Given the description of an element on the screen output the (x, y) to click on. 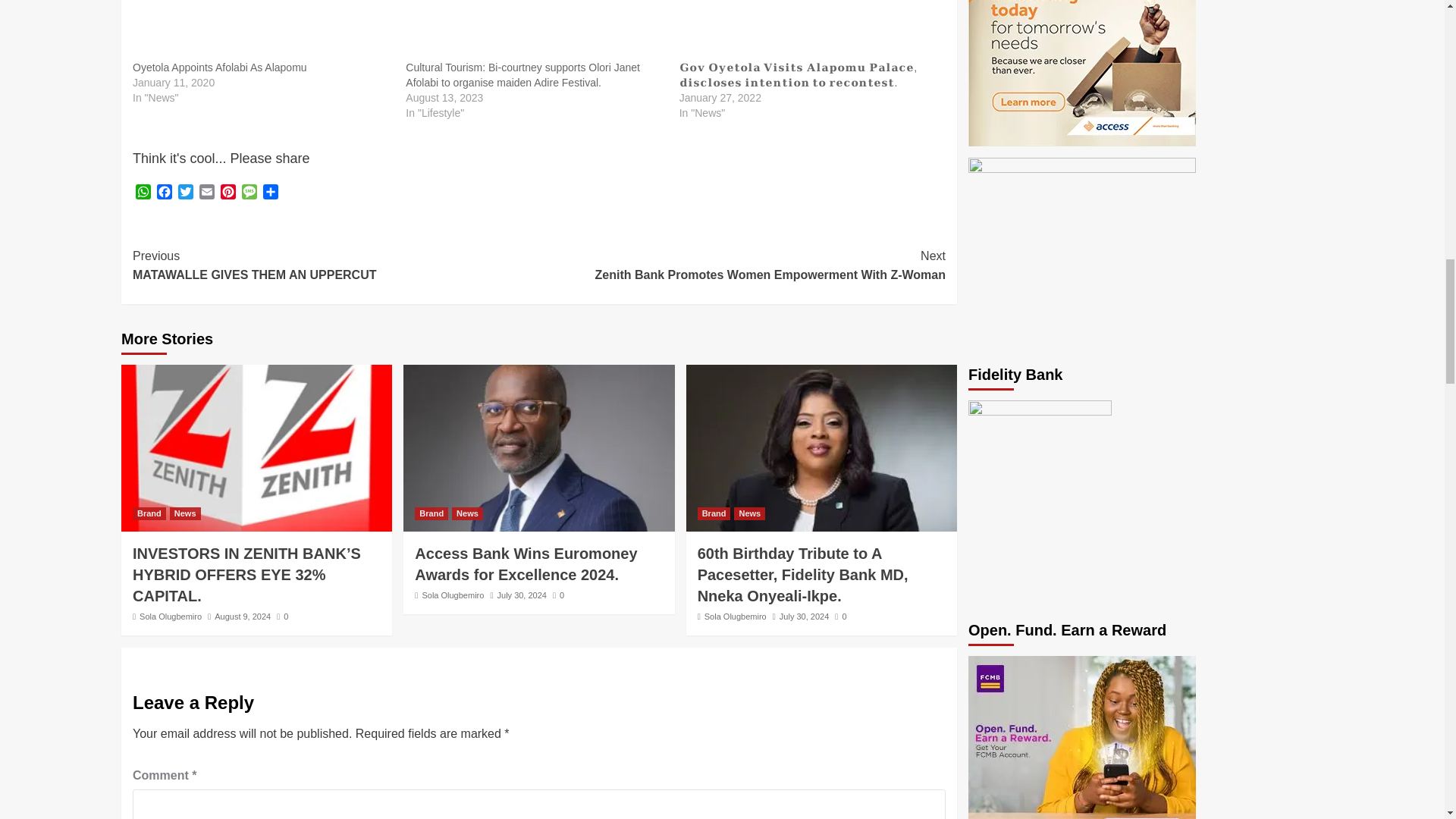
WhatsApp (143, 193)
Message (249, 193)
Oyetola Appoints Afolabi As Alapomu (219, 67)
Facebook (164, 193)
Email (206, 193)
Oyetola Appoints Afolabi As Alapomu (219, 67)
Twitter (185, 193)
WhatsApp (143, 193)
